Given the description of an element on the screen output the (x, y) to click on. 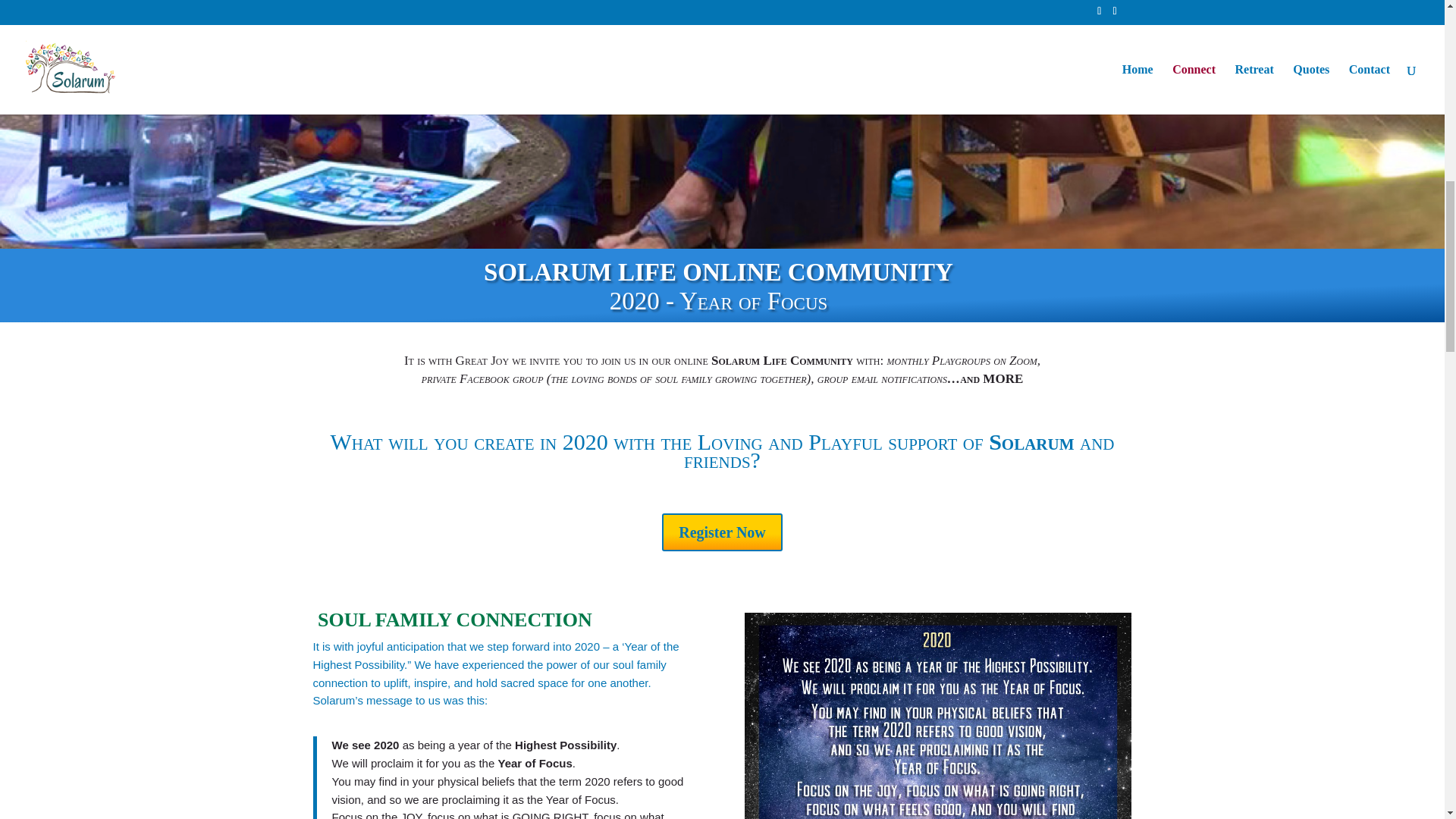
Register Now (722, 532)
